Given the description of an element on the screen output the (x, y) to click on. 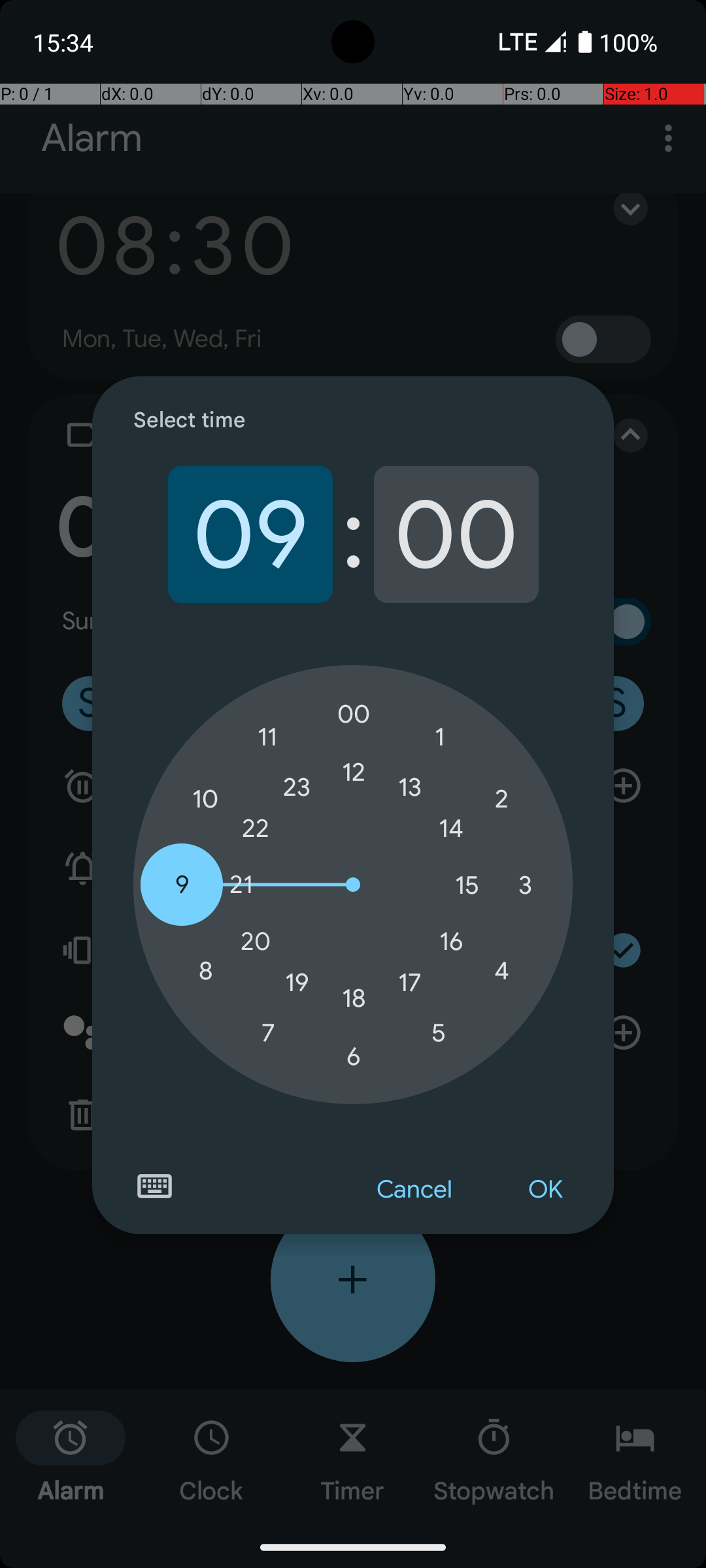
09 Element type: android.view.View (250, 534)
